Given the description of an element on the screen output the (x, y) to click on. 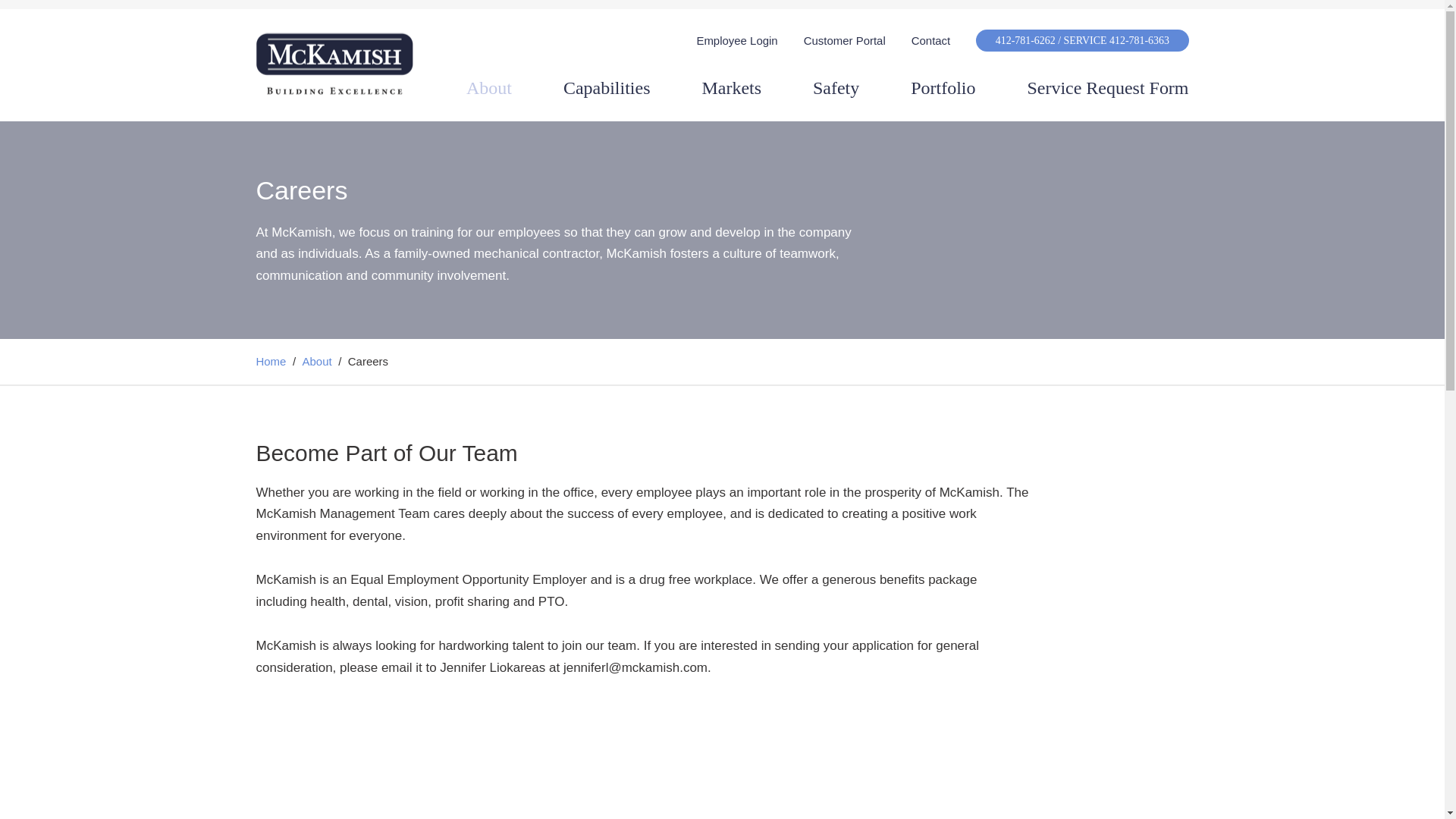
Call Us (1081, 40)
Contact (930, 40)
Markets (731, 87)
Customer Portal (844, 40)
Capabilities (606, 87)
About (316, 360)
Portfolio (943, 87)
Employee Login (736, 40)
Contact (930, 40)
Home (271, 360)
Company Logo (334, 63)
Service Request Form (1107, 87)
Customer Portal (844, 40)
